Given the description of an element on the screen output the (x, y) to click on. 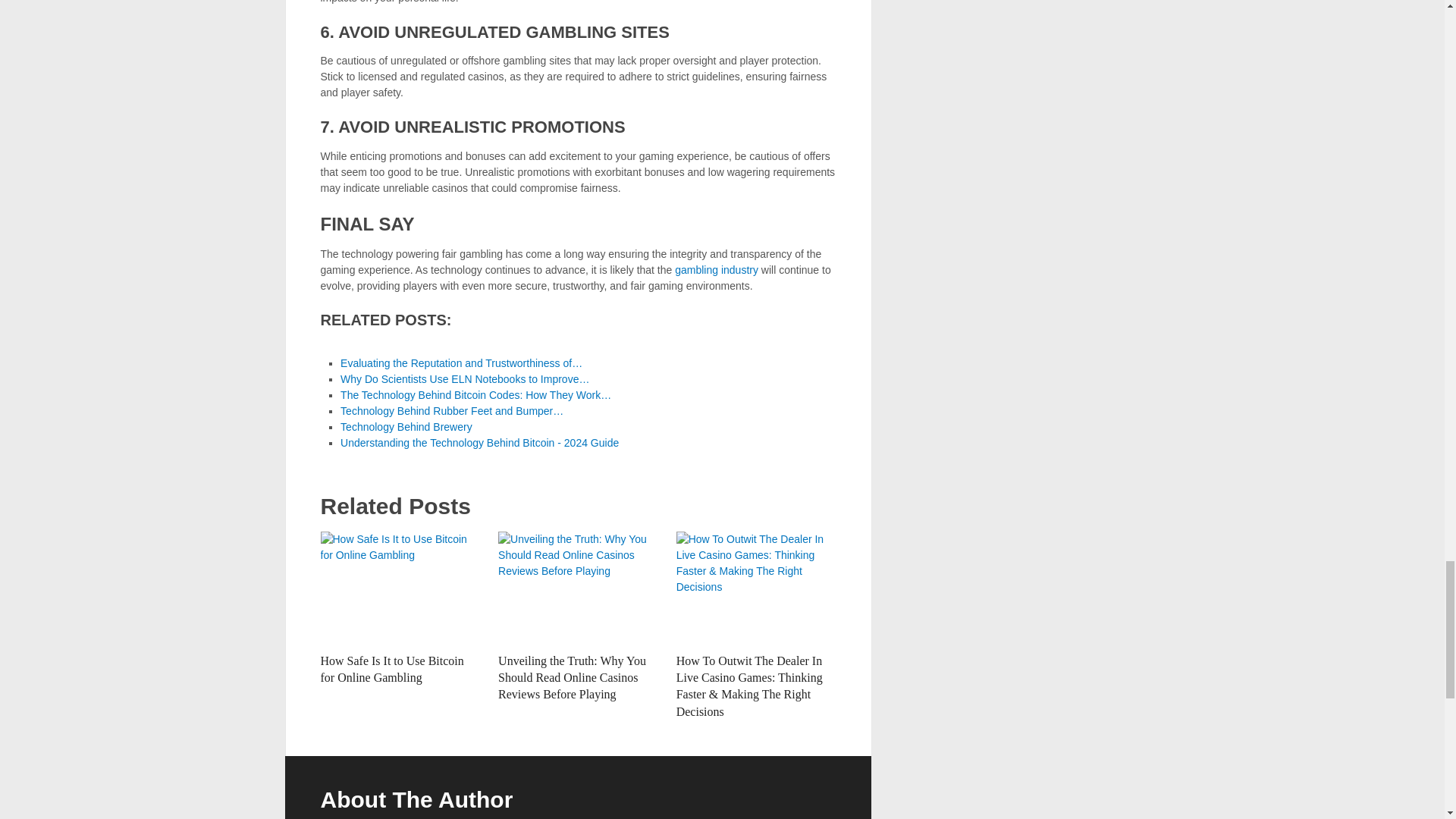
Technology Behind Brewery (405, 426)
How Safe Is It to Use Bitcoin for Online Gambling (391, 668)
How Safe Is It to Use Bitcoin for Online Gambling (400, 588)
How Safe Is It to Use Bitcoin for Online Gambling (391, 668)
gambling industry (716, 269)
Understanding the Technology Behind Bitcoin - 2024 Guide (479, 442)
